Given the description of an element on the screen output the (x, y) to click on. 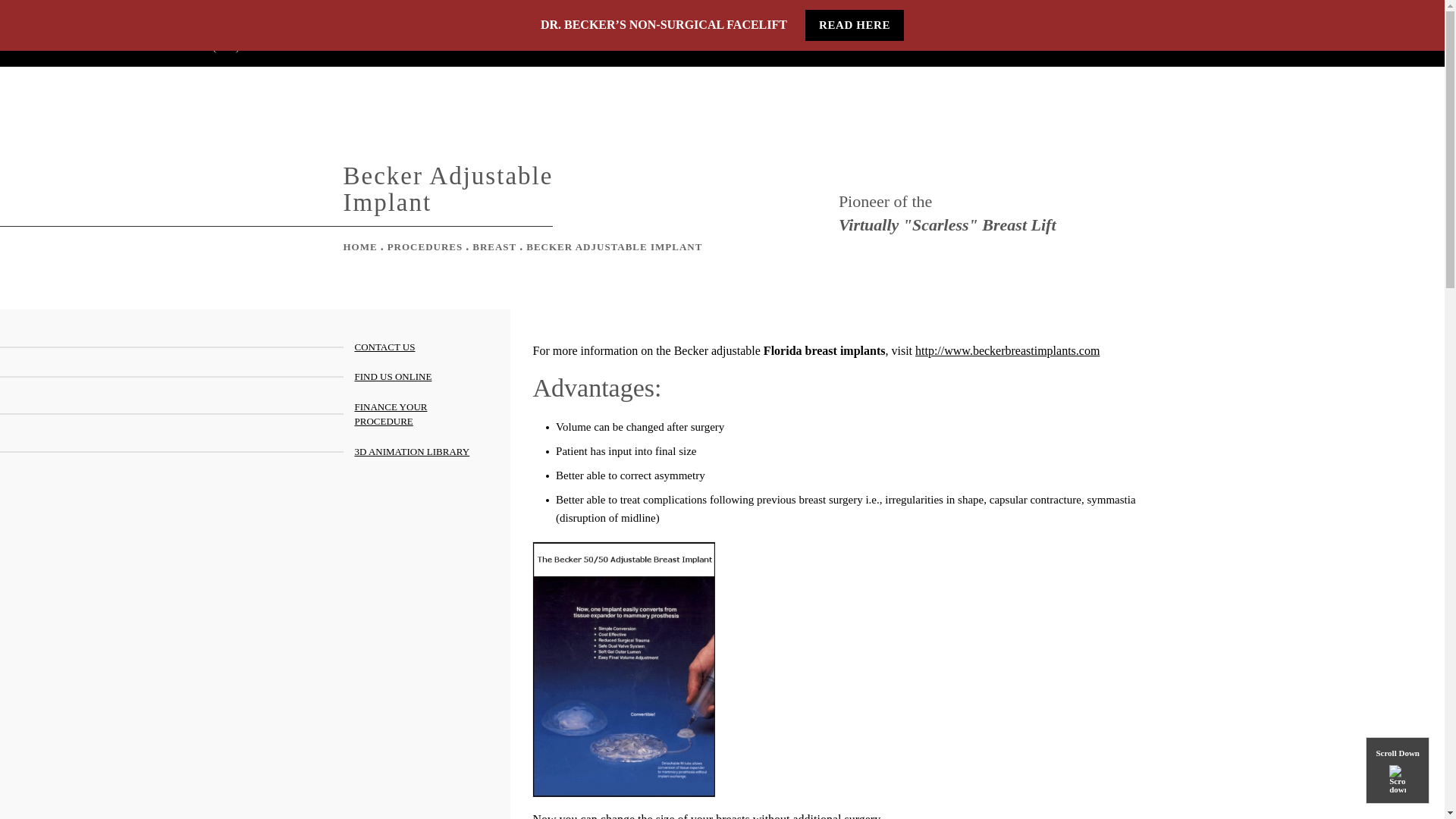
ABOUT (407, 34)
Scroll Down (1397, 770)
PROCEDURES (495, 34)
READ HERE (854, 24)
